Given the description of an element on the screen output the (x, y) to click on. 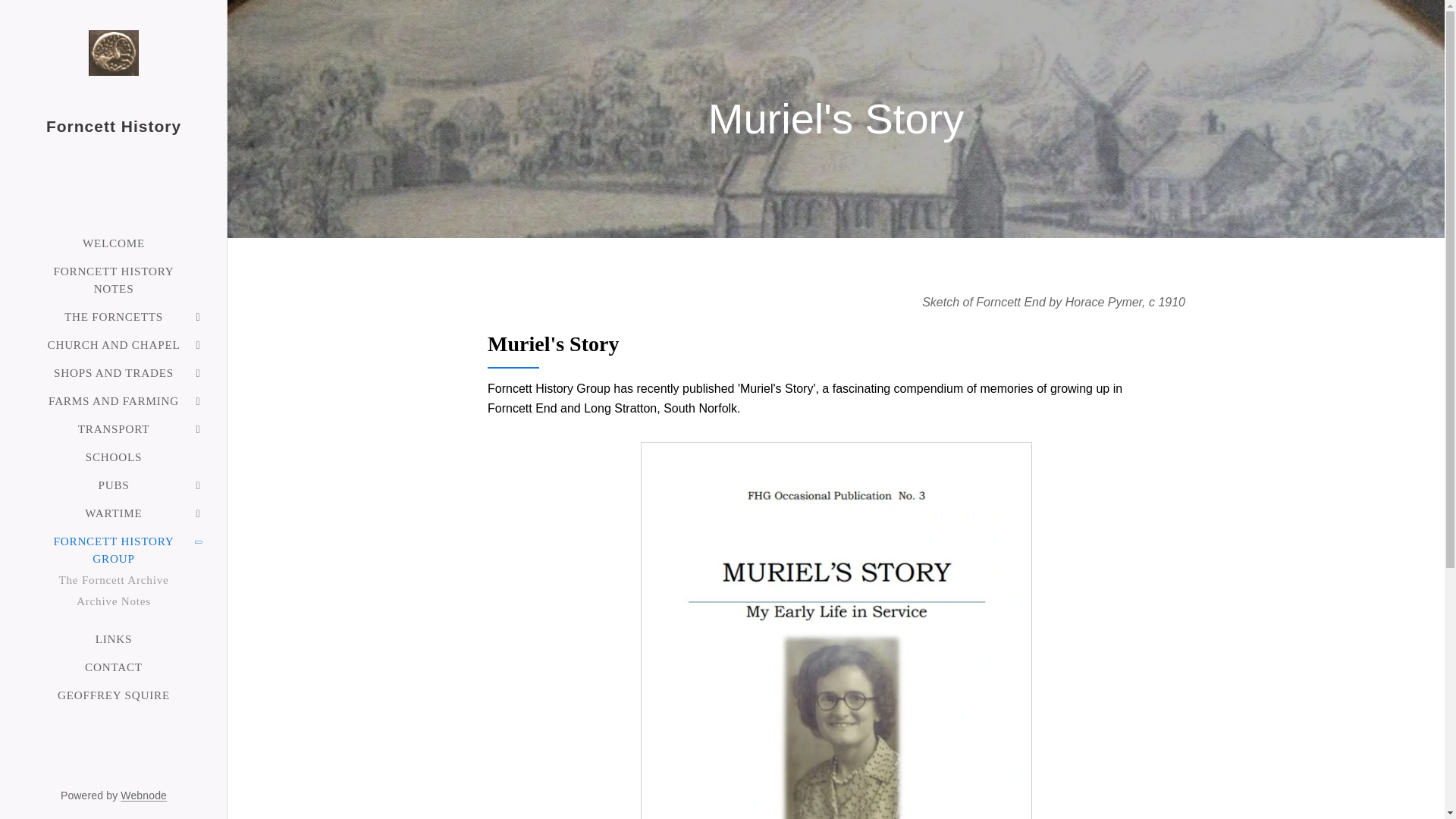
TRANSPORT (113, 428)
SHOPS AND TRADES (113, 372)
FARMS AND FARMING (113, 400)
SCHOOLS (113, 456)
PUBS (113, 484)
CHURCH AND CHAPEL (113, 343)
THE FORNCETTS (113, 316)
FORNCETT HISTORY NOTES (113, 279)
WELCOME (113, 242)
